Given the description of an element on the screen output the (x, y) to click on. 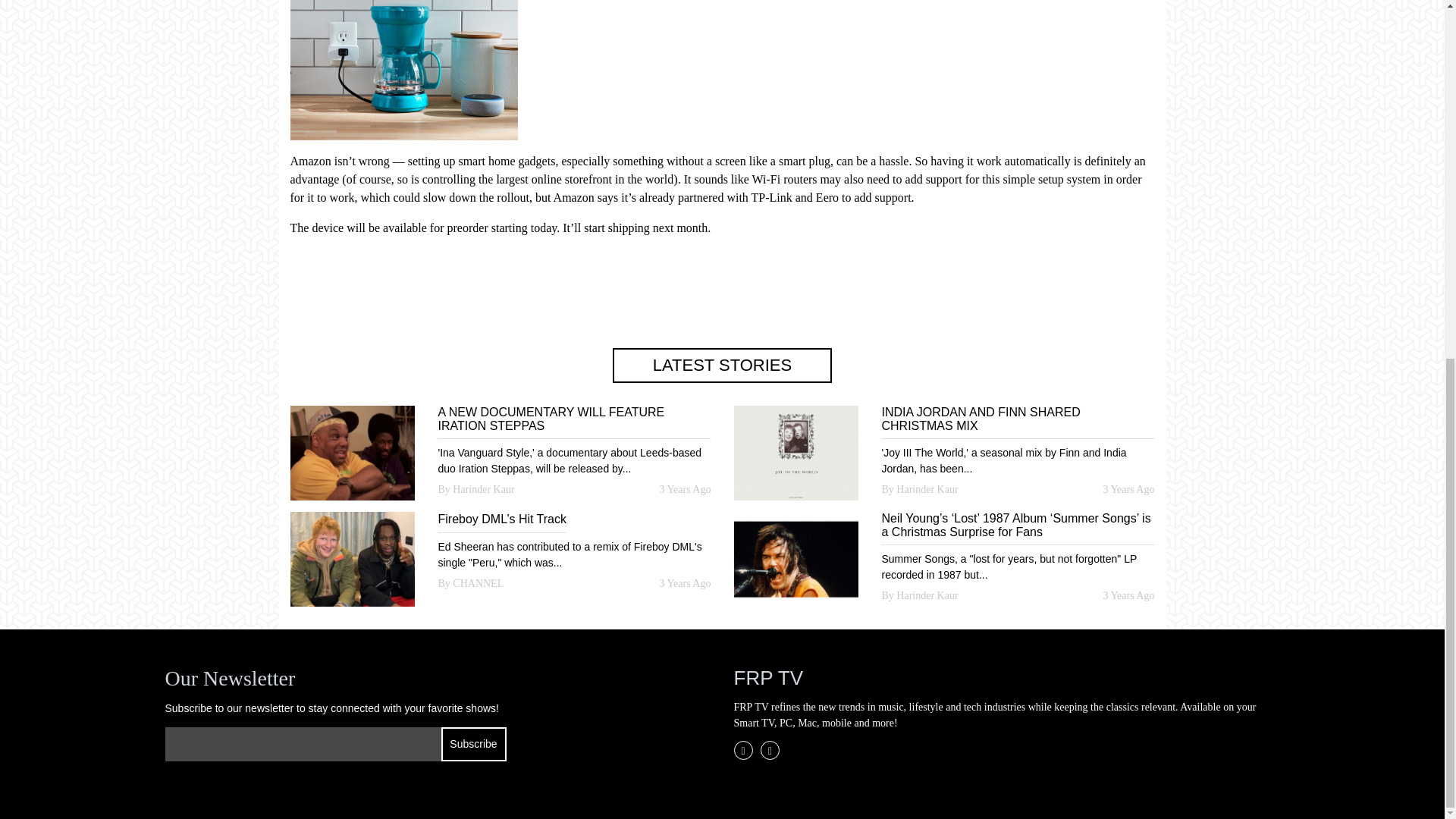
Subscribe (473, 744)
